Given the description of an element on the screen output the (x, y) to click on. 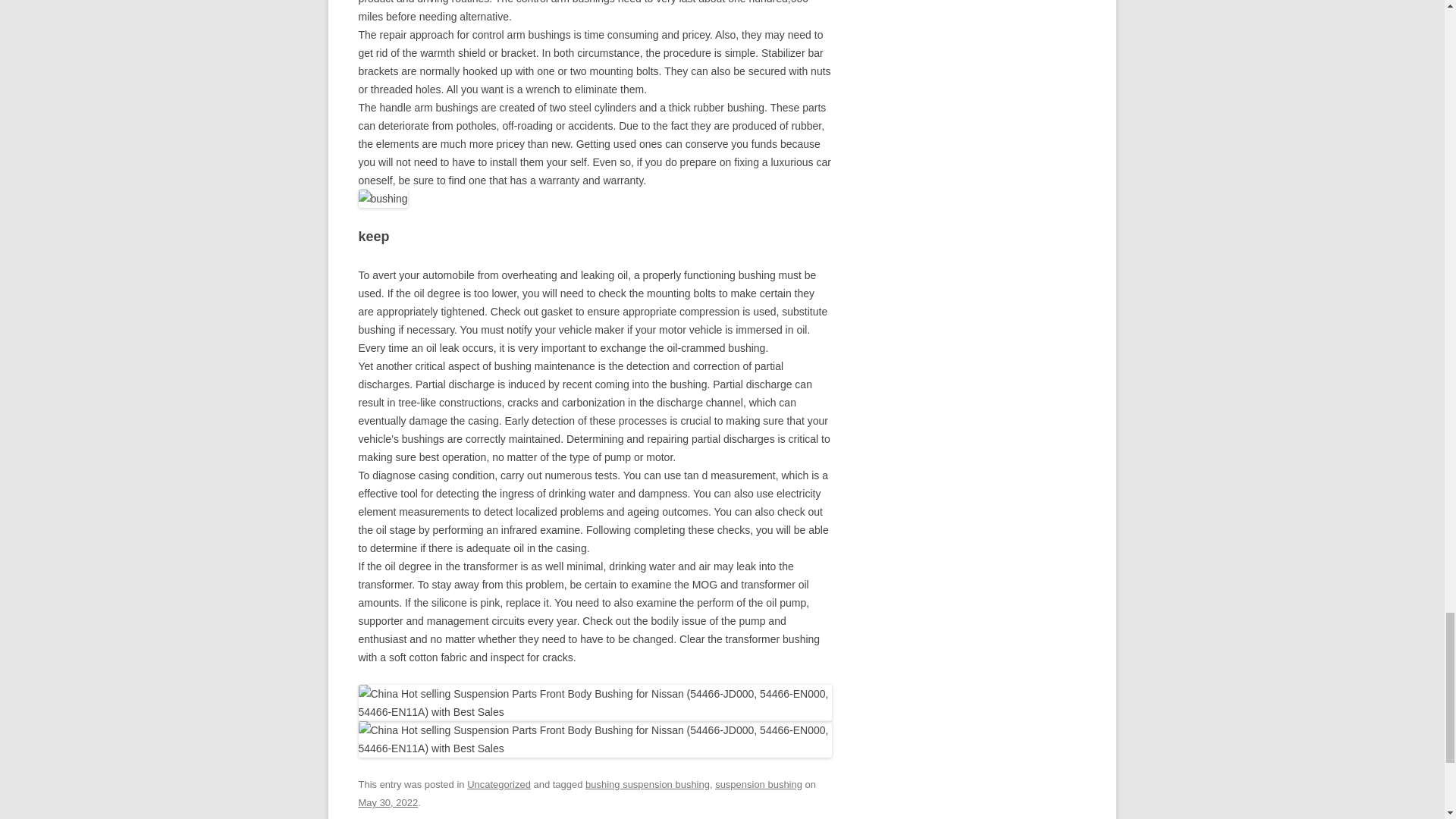
May 30, 2022 (387, 802)
2:11 pm (387, 802)
bushing suspension bushing (647, 784)
Uncategorized (499, 784)
suspension bushing (758, 784)
